Given the description of an element on the screen output the (x, y) to click on. 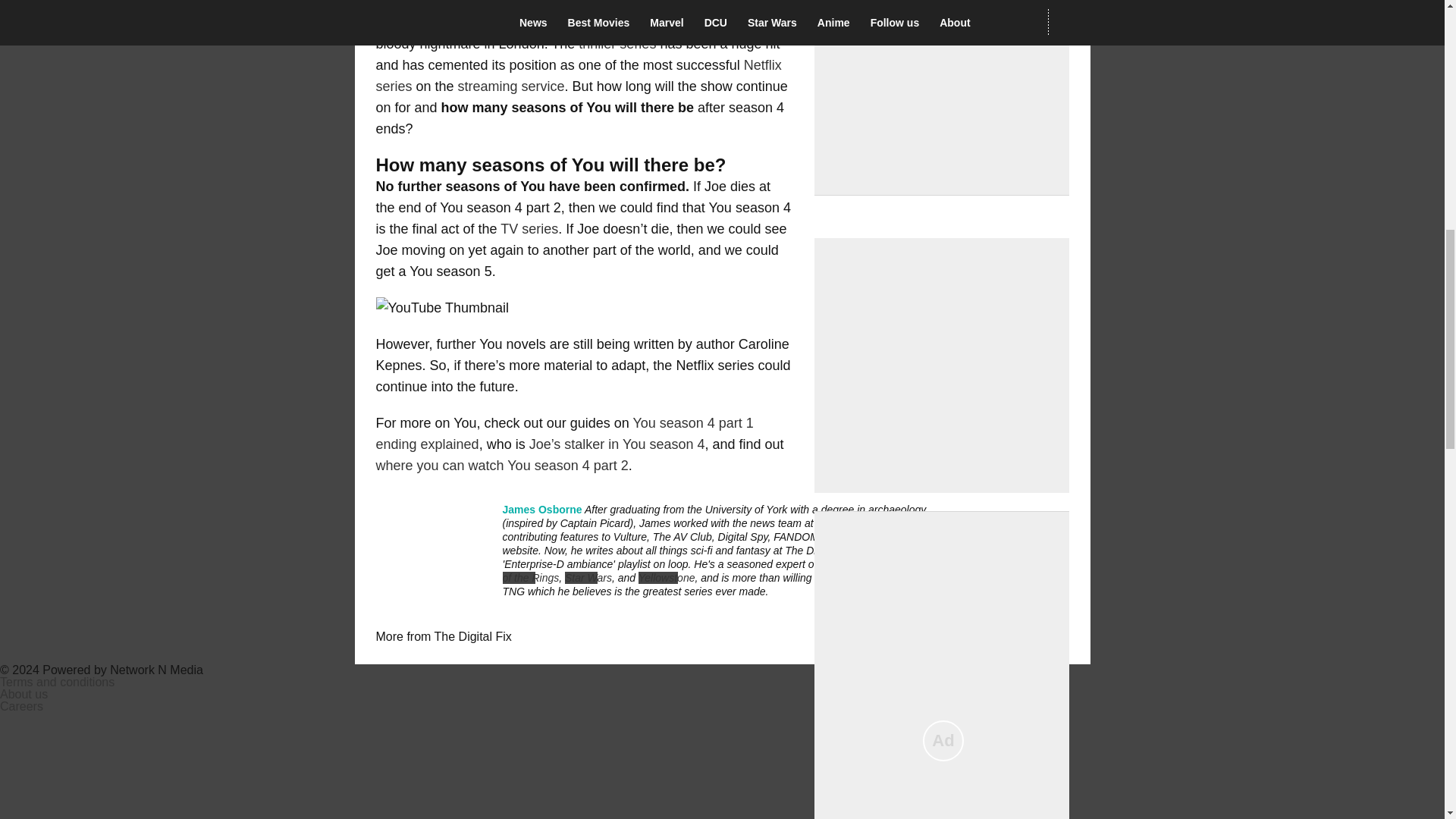
thriller series (617, 43)
Netflix series (578, 75)
You season 4 (416, 22)
streaming service (511, 86)
TV series (528, 228)
